Given the description of an element on the screen output the (x, y) to click on. 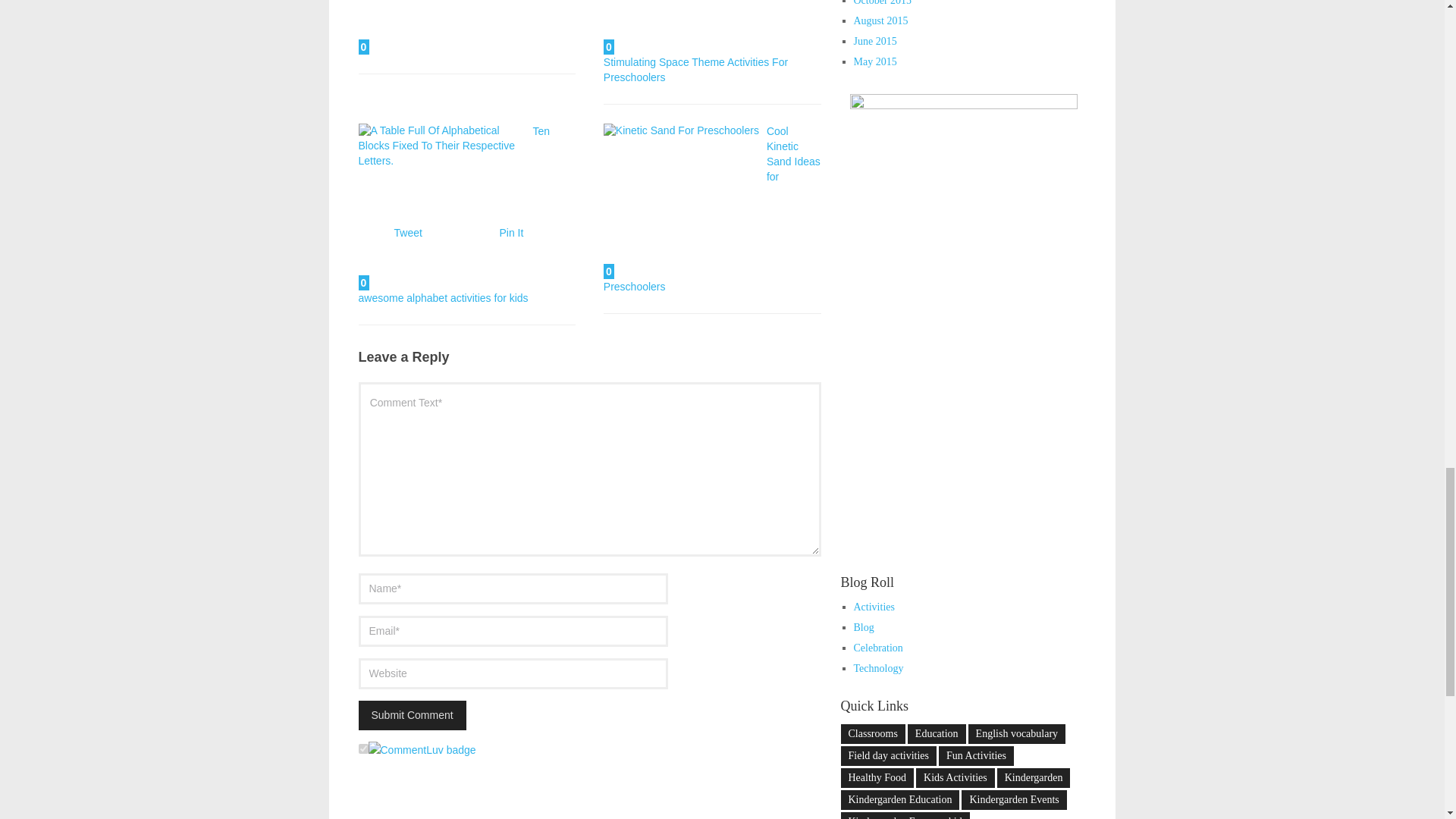
0 (687, 27)
on (363, 748)
Ten awesome alphabet activities for kids (454, 214)
Cool Kinetic Sand Ideas for Preschoolers (712, 208)
0 (441, 206)
Submit Comment (411, 715)
Submit Comment (411, 715)
Ten awesome alphabet activities for kids (454, 214)
Stimulating Space Theme Activities For Preschoolers (695, 69)
0 (441, 27)
